Given the description of an element on the screen output the (x, y) to click on. 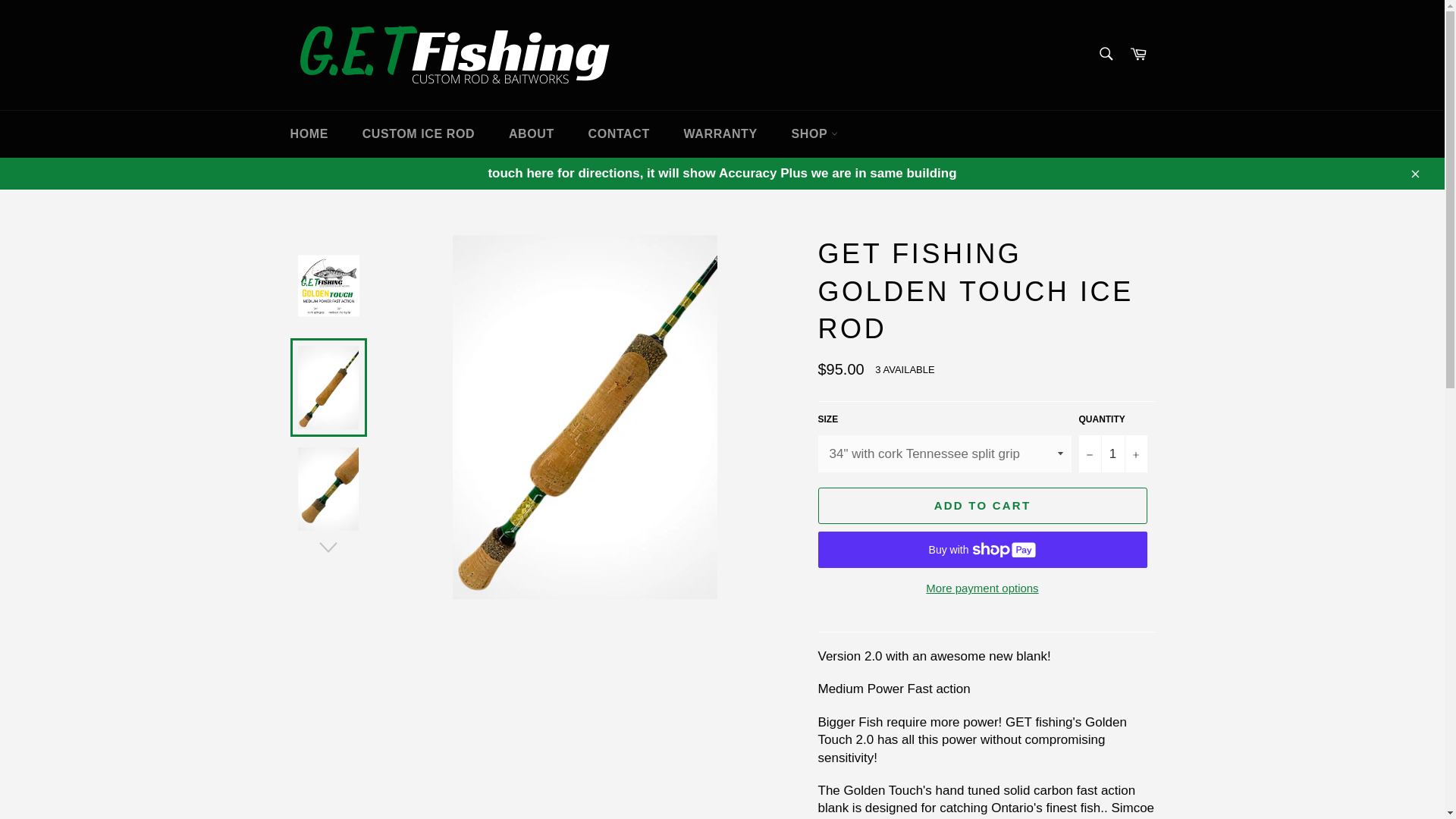
ABOUT (531, 134)
CUSTOM ICE ROD (418, 134)
HOME (308, 134)
WARRANTY (720, 134)
1 (1112, 453)
Cart (1138, 54)
SHOP (814, 134)
Search (1104, 53)
CONTACT (619, 134)
Close (1414, 173)
